Given the description of an element on the screen output the (x, y) to click on. 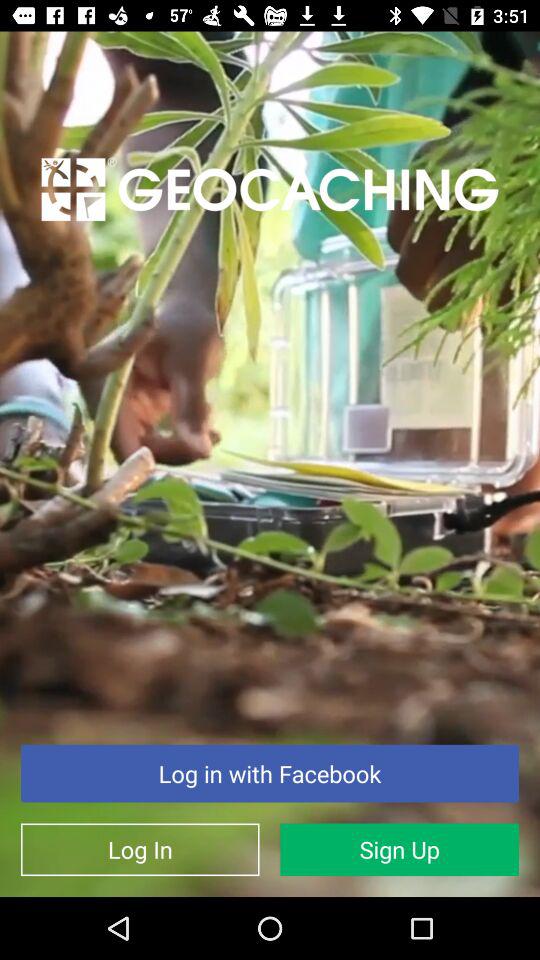
flip to the sign up icon (399, 849)
